Given the description of an element on the screen output the (x, y) to click on. 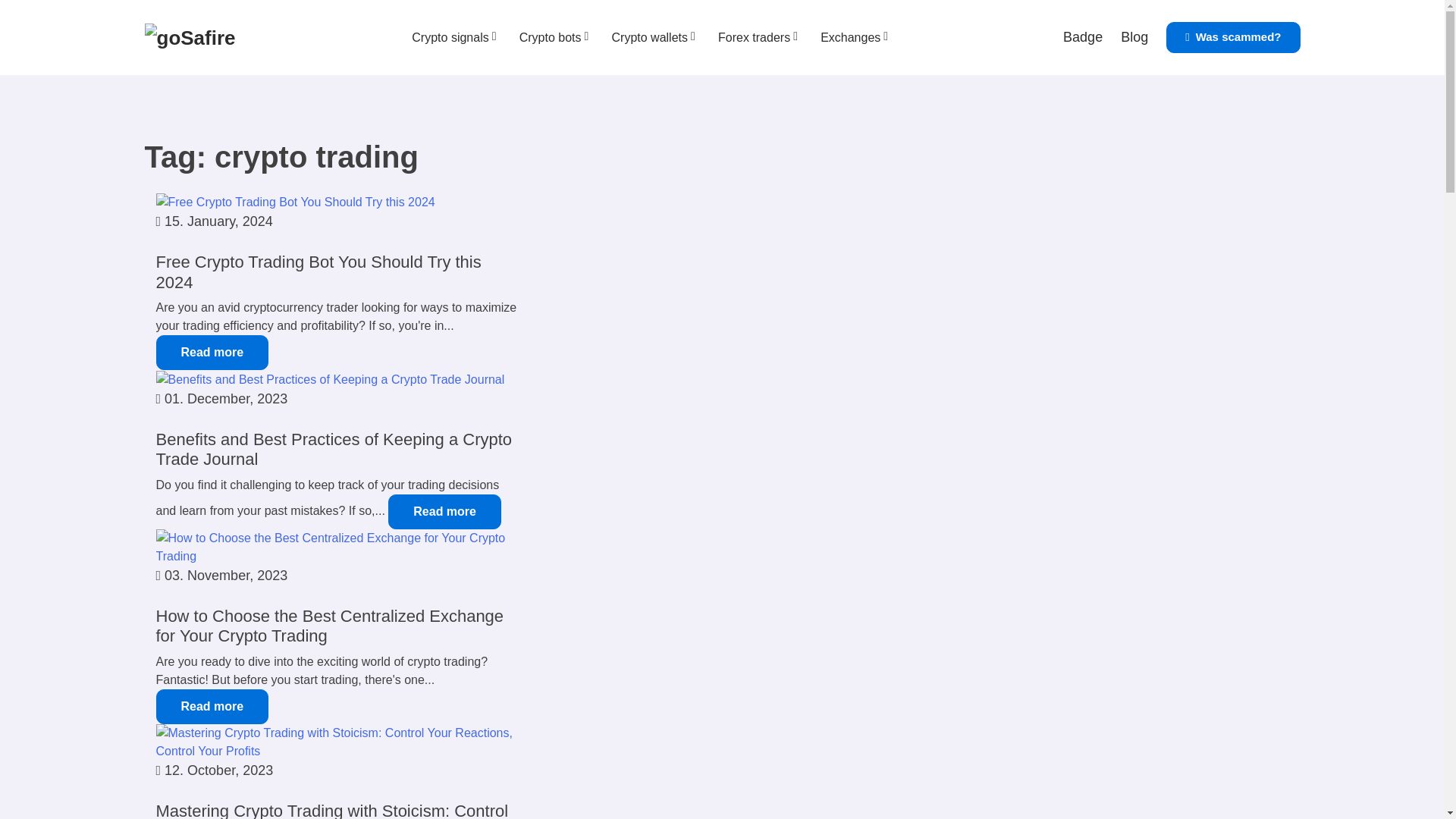
goSafire (189, 38)
Crypto signals (449, 37)
